Given the description of an element on the screen output the (x, y) to click on. 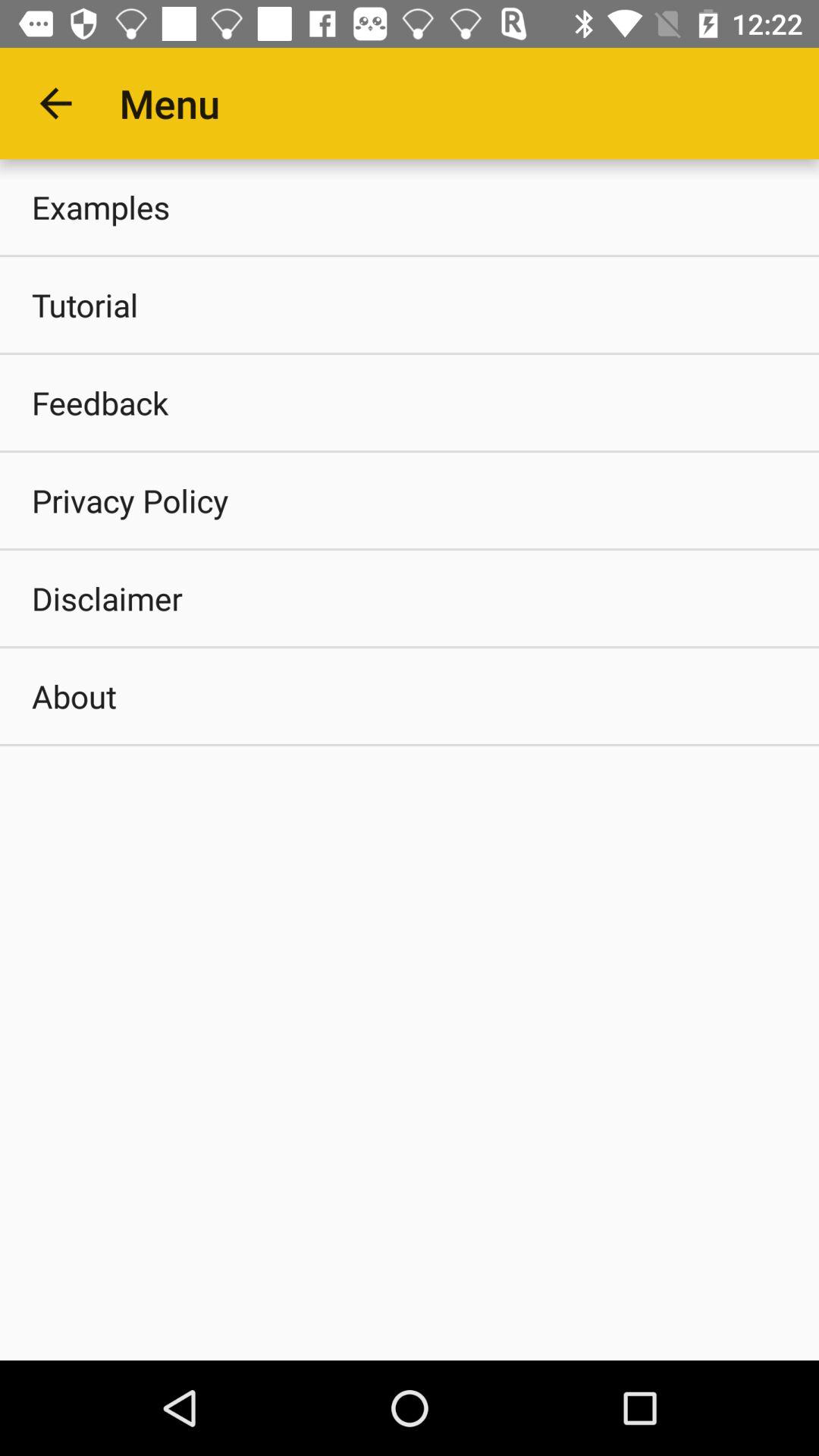
click icon above examples item (55, 103)
